Given the description of an element on the screen output the (x, y) to click on. 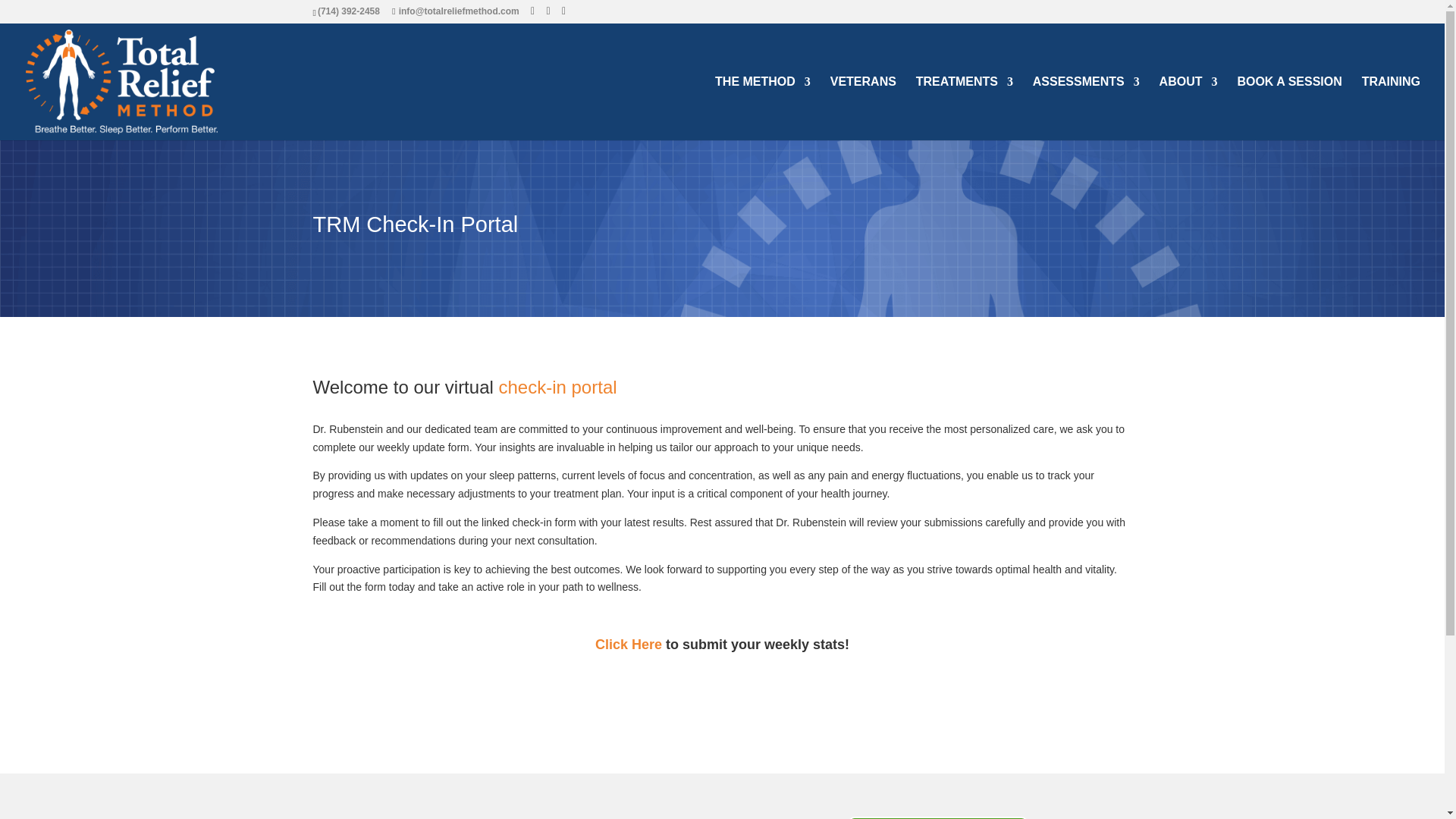
TREATMENTS (964, 108)
ASSESSMENTS (1086, 108)
BOOK A SESSION (1288, 108)
TRAINING (1391, 108)
VETERANS (862, 108)
THE METHOD (762, 108)
ABOUT (1187, 108)
